Given the description of an element on the screen output the (x, y) to click on. 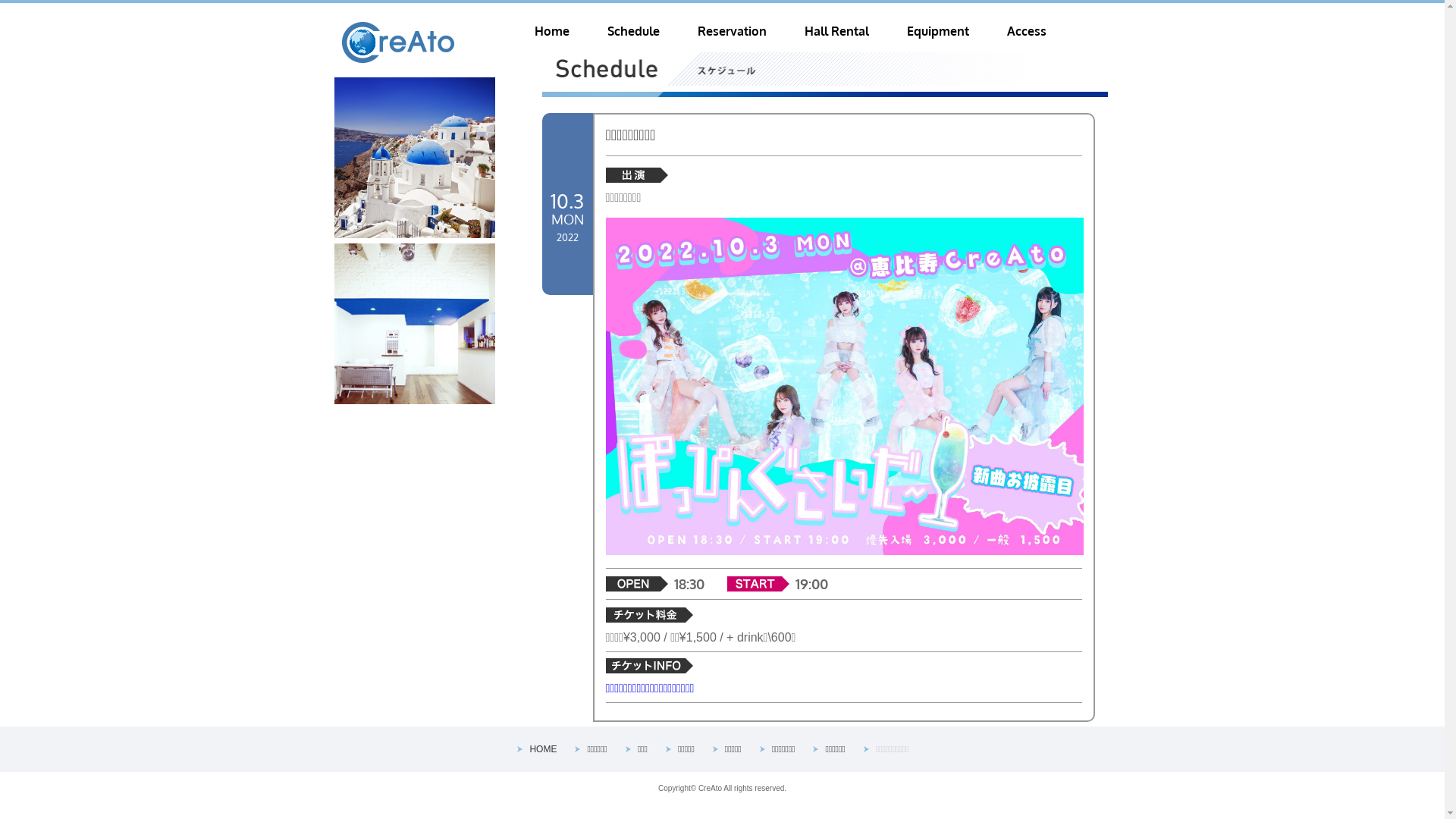
Equipment Element type: text (937, 30)
Home Element type: text (550, 30)
Reservation Element type: text (731, 30)
Access Element type: text (1026, 30)
Schedule Element type: text (632, 30)
HOME Element type: text (542, 748)
Hall Rental Element type: text (835, 30)
